Given the description of an element on the screen output the (x, y) to click on. 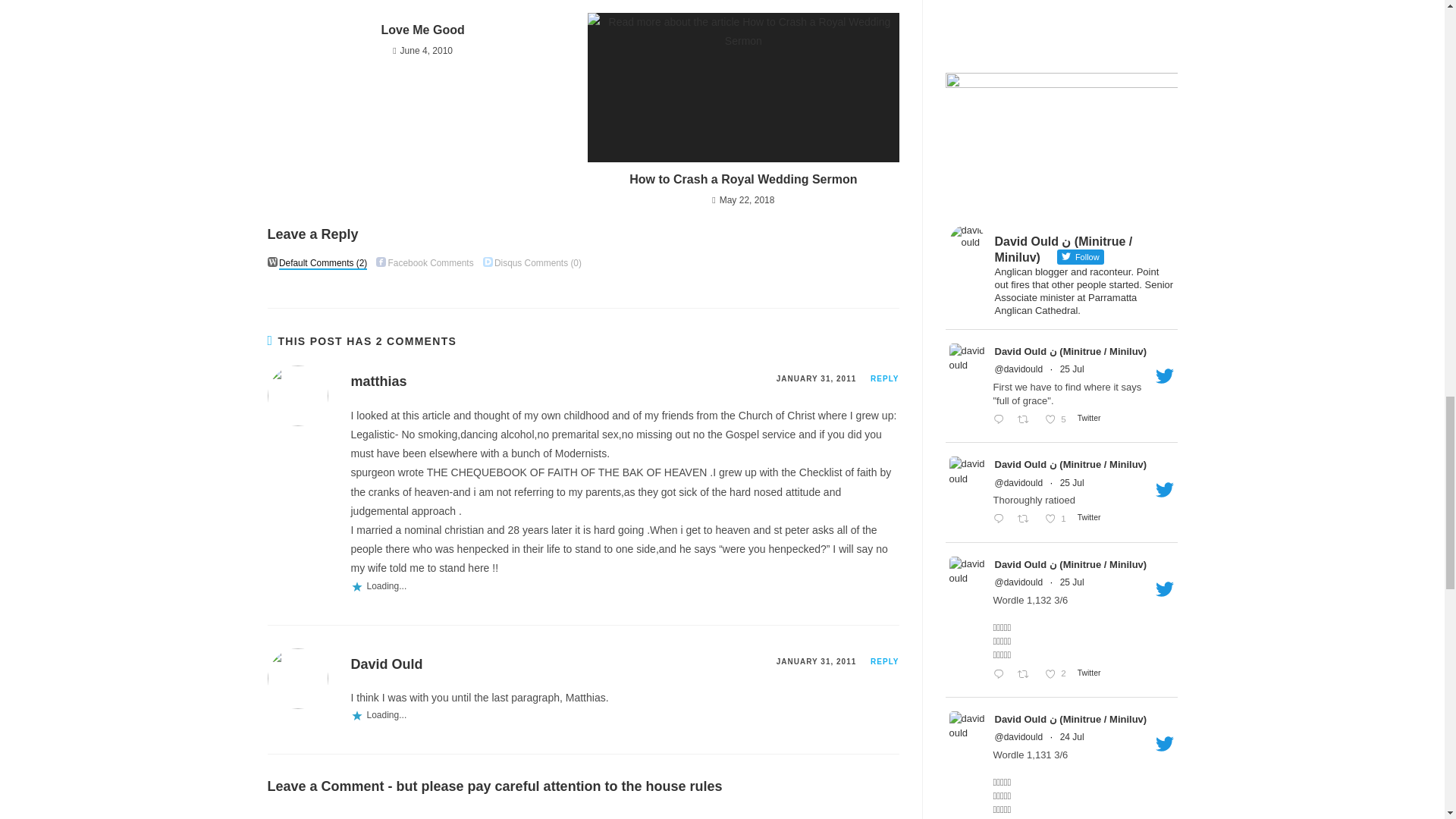
Default Comments (271, 261)
